Given the description of an element on the screen output the (x, y) to click on. 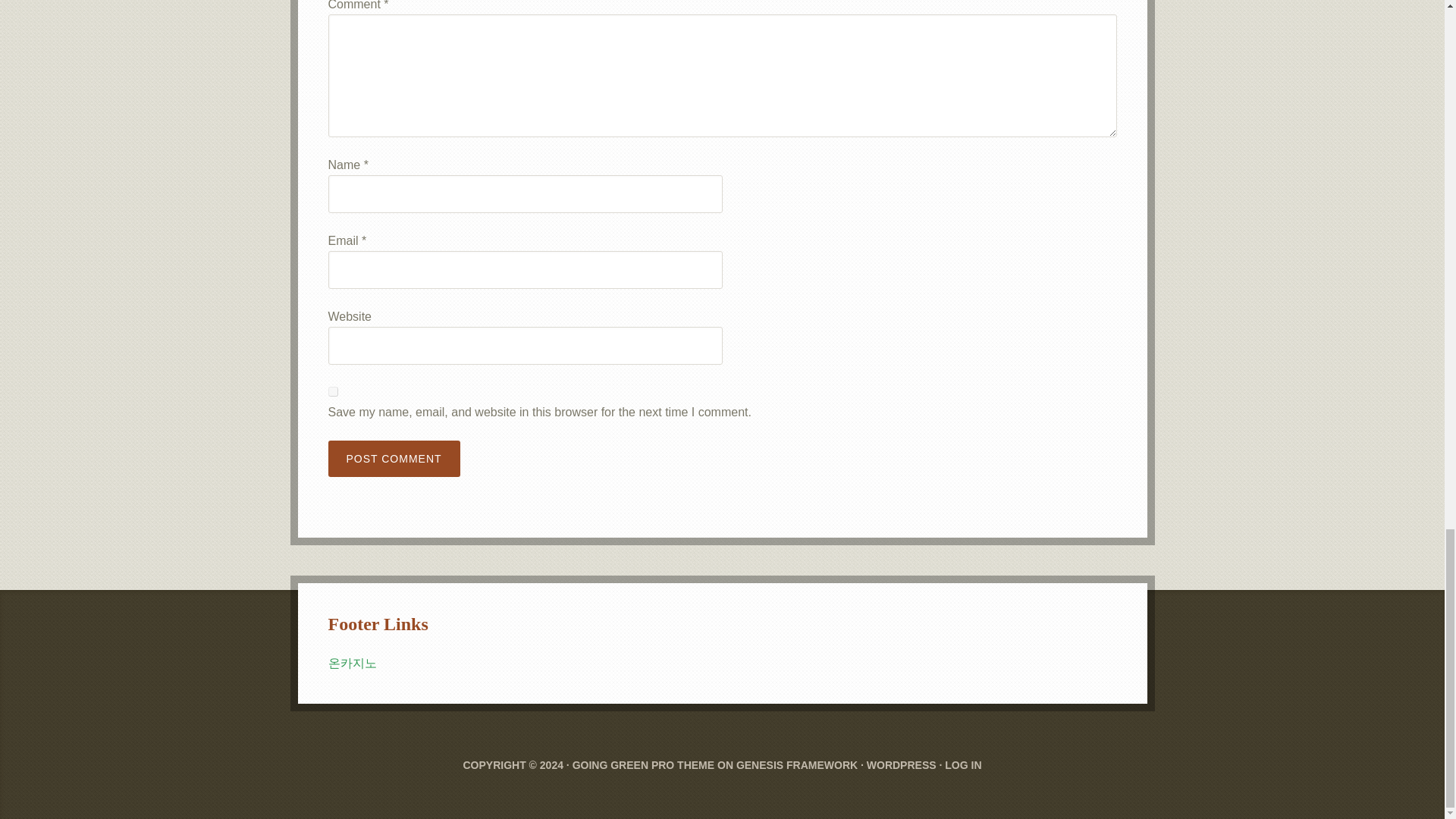
WORDPRESS (901, 765)
Post Comment (393, 458)
GOING GREEN PRO THEME (643, 765)
yes (332, 391)
Post Comment (393, 458)
GENESIS FRAMEWORK (796, 765)
LOG IN (962, 765)
